Given the description of an element on the screen output the (x, y) to click on. 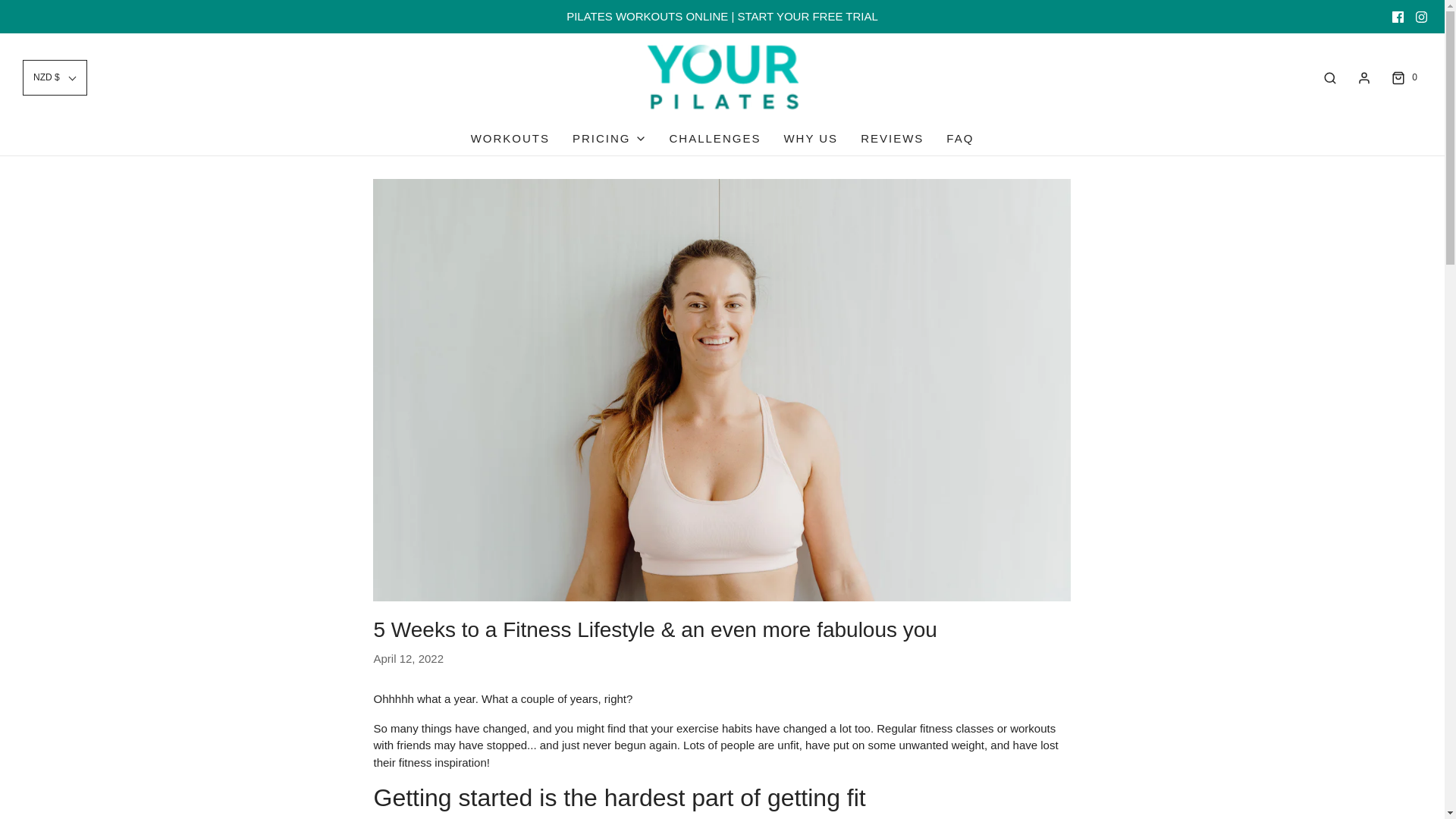
0 (1403, 77)
Instagram icon (1420, 16)
Log in (1364, 78)
PRICING (609, 138)
REVIEWS (891, 138)
WHY US (810, 138)
WORKOUTS (510, 138)
Facebook icon (1397, 16)
CHALLENGES (715, 138)
Cart (1403, 77)
